Given the description of an element on the screen output the (x, y) to click on. 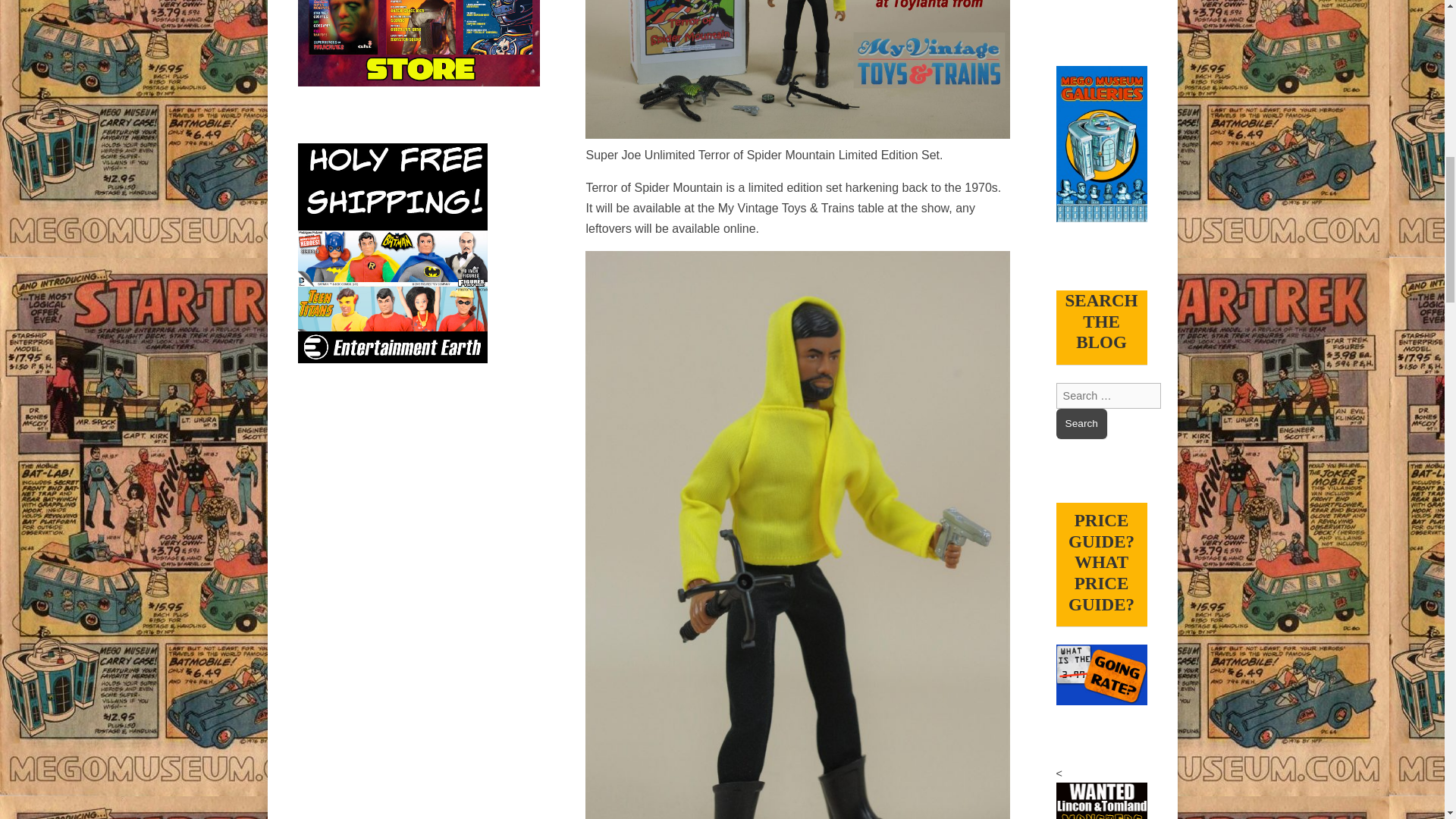
Search (1081, 423)
Search (1081, 423)
